Given the description of an element on the screen output the (x, y) to click on. 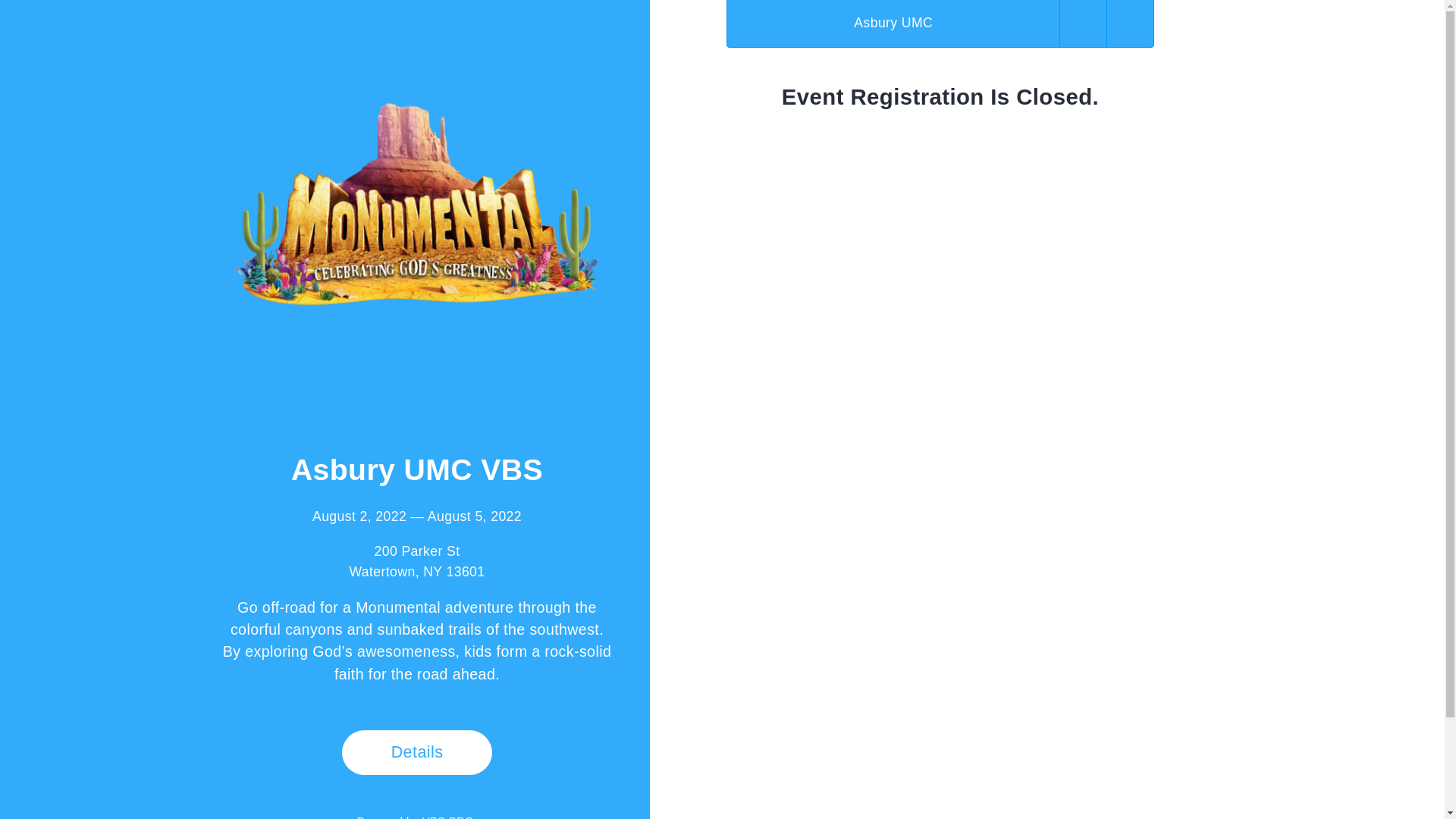
Learn more about Group VBS PRO (449, 816)
Details (417, 752)
VBS PRO. (449, 816)
